Given the description of an element on the screen output the (x, y) to click on. 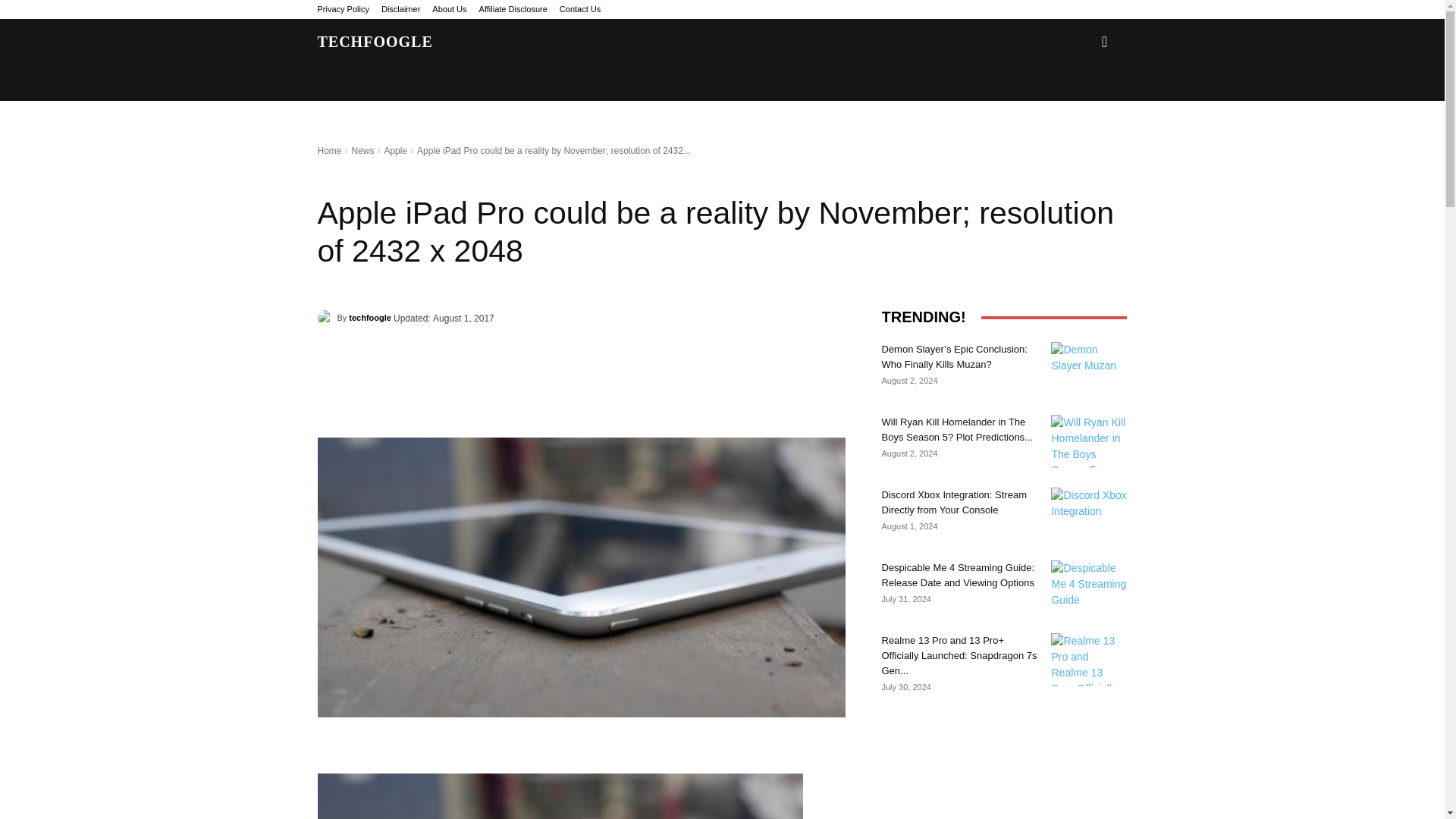
Contact Us (579, 8)
Affiliate Disclosure (513, 8)
About Us (448, 8)
Disclaimer (400, 8)
TECHFOOGLE (374, 41)
Privacy Policy (342, 8)
